Given the description of an element on the screen output the (x, y) to click on. 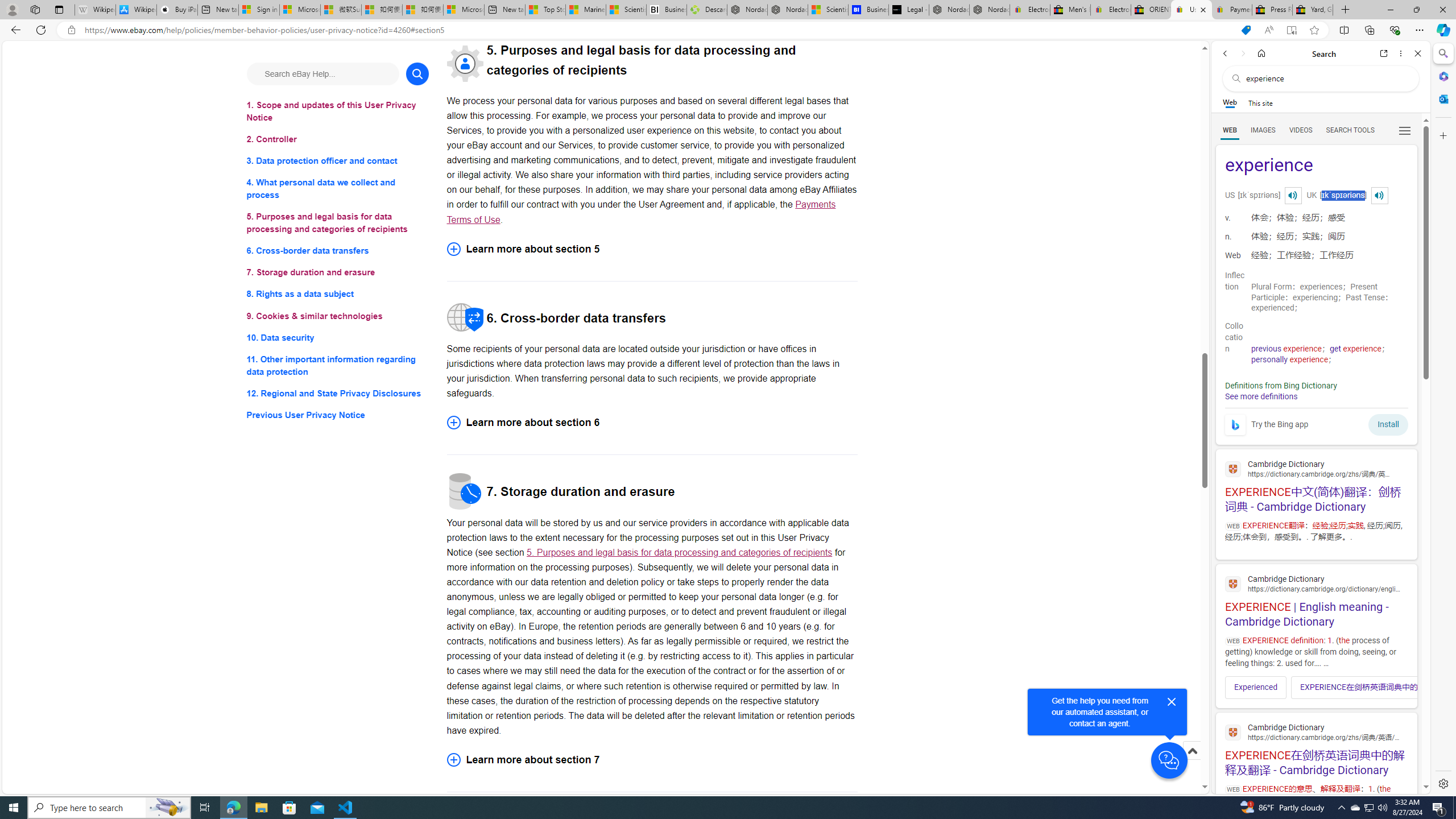
11. Other important information regarding data protection (337, 365)
Cambridge Dictionary (1315, 731)
6. Cross-border data transfers (337, 250)
personally experience (1288, 359)
Class: b_serphb (1404, 130)
Microsoft account | Account Checkup (463, 9)
Open link in new tab (1383, 53)
Web scope (1230, 102)
This site scope (1259, 102)
2. Controller (337, 138)
